Given the description of an element on the screen output the (x, y) to click on. 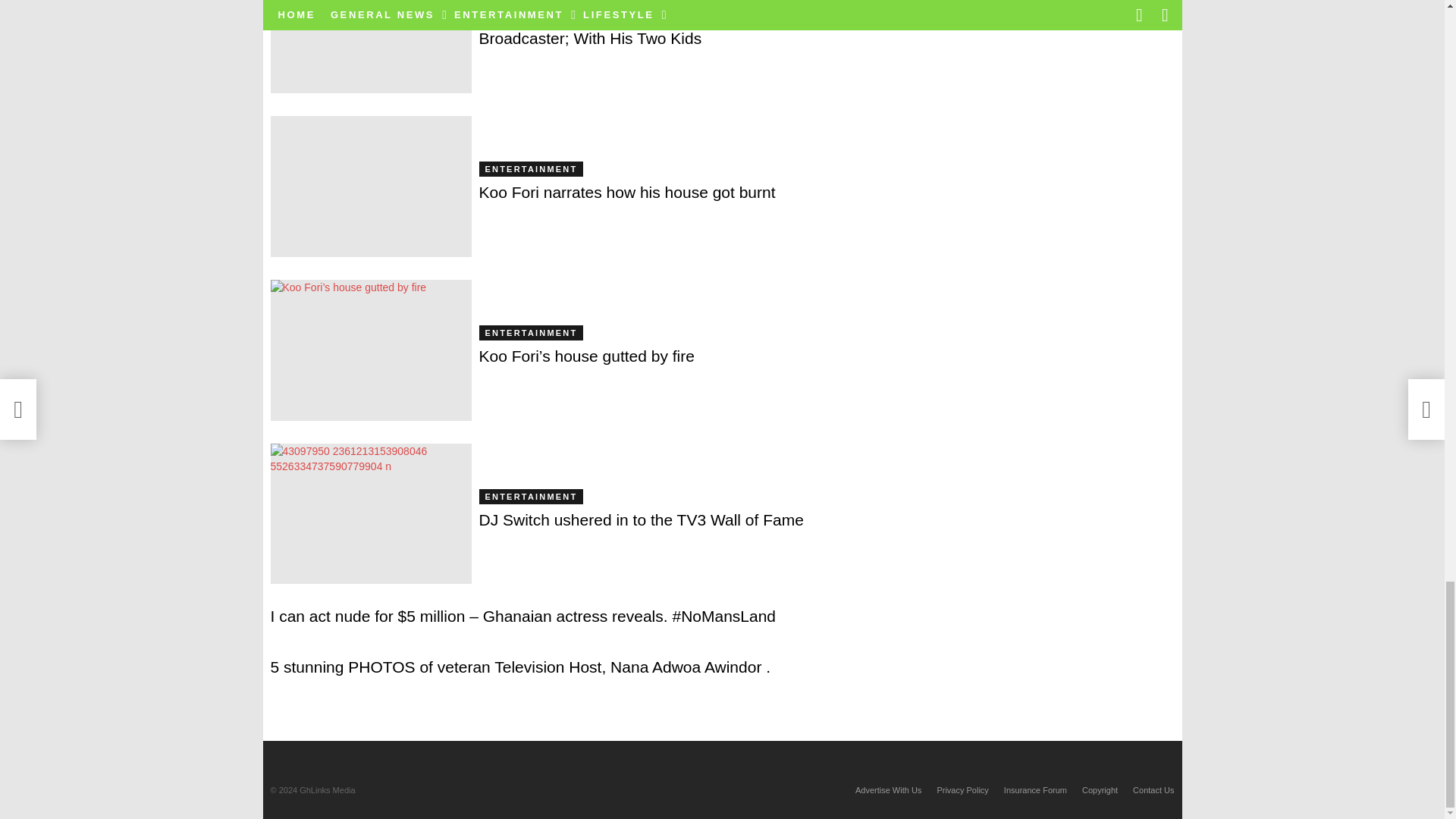
ENTERTAINMENT (531, 168)
Koo Fori narrates how his house got burnt (369, 186)
DJ Switch ushered in to the TV3 Wall of Fame (369, 513)
ENTERTAINMENT (531, 2)
